Given the description of an element on the screen output the (x, y) to click on. 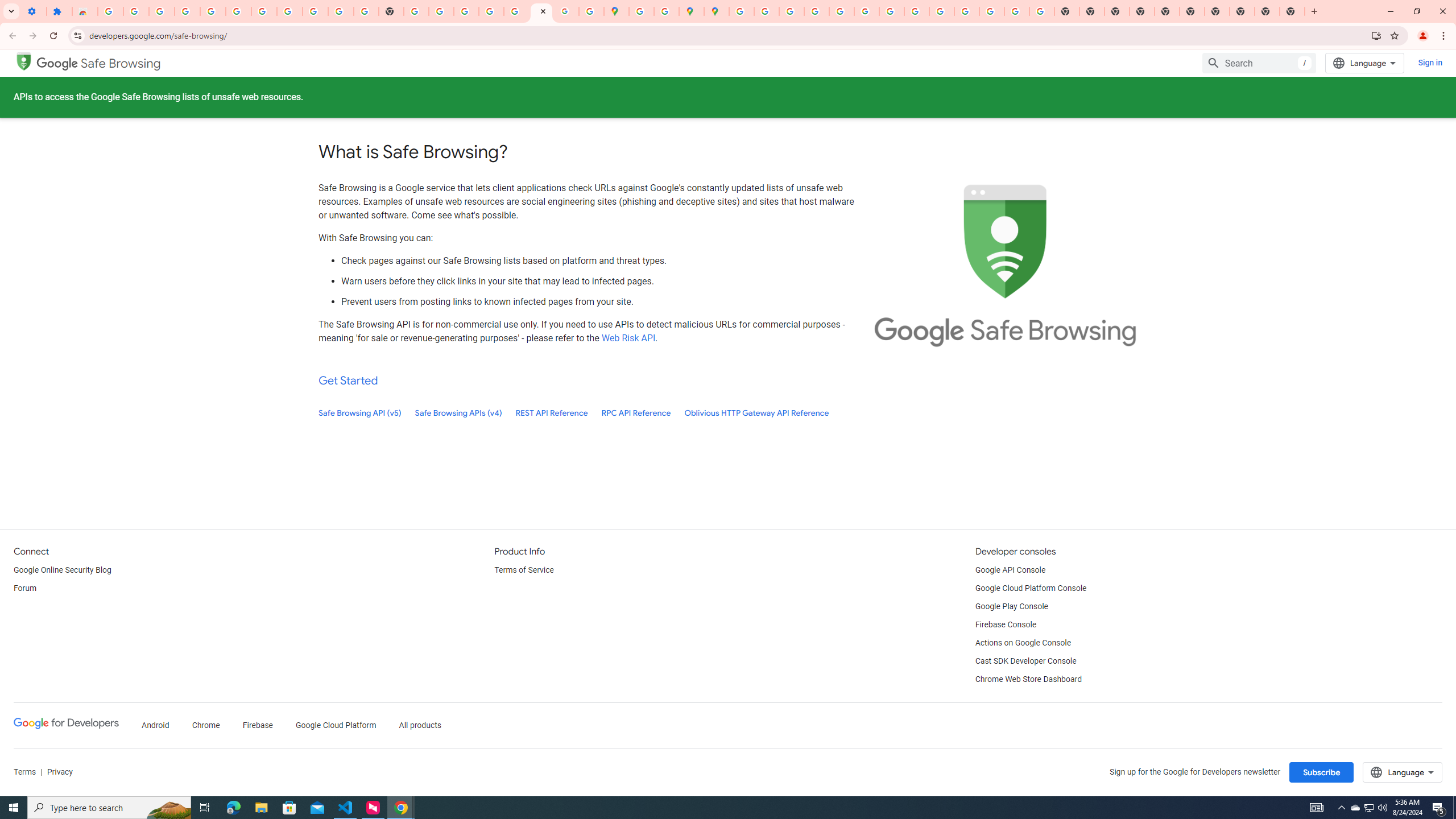
Subscribe (1322, 772)
Install Google Developers (1376, 35)
Sign in - Google Accounts (264, 11)
Forum (24, 588)
Delete photos & videos - Computer - Google Photos Help (186, 11)
https://scholar.google.com/ (415, 11)
Google Play Console (1011, 606)
